Given the description of an element on the screen output the (x, y) to click on. 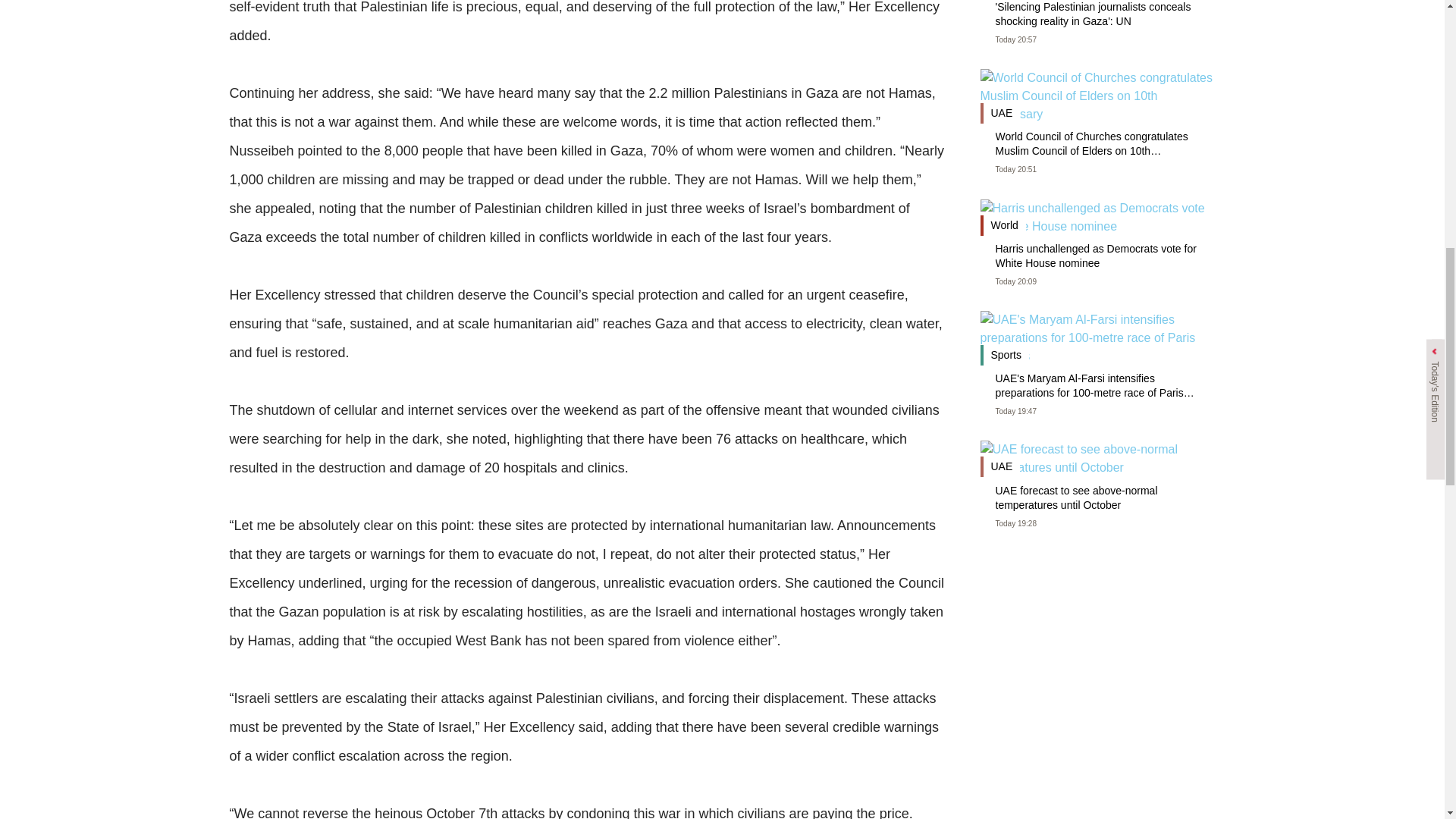
UAE forecast to see above-normal temperatures until October (1096, 498)
